Given the description of an element on the screen output the (x, y) to click on. 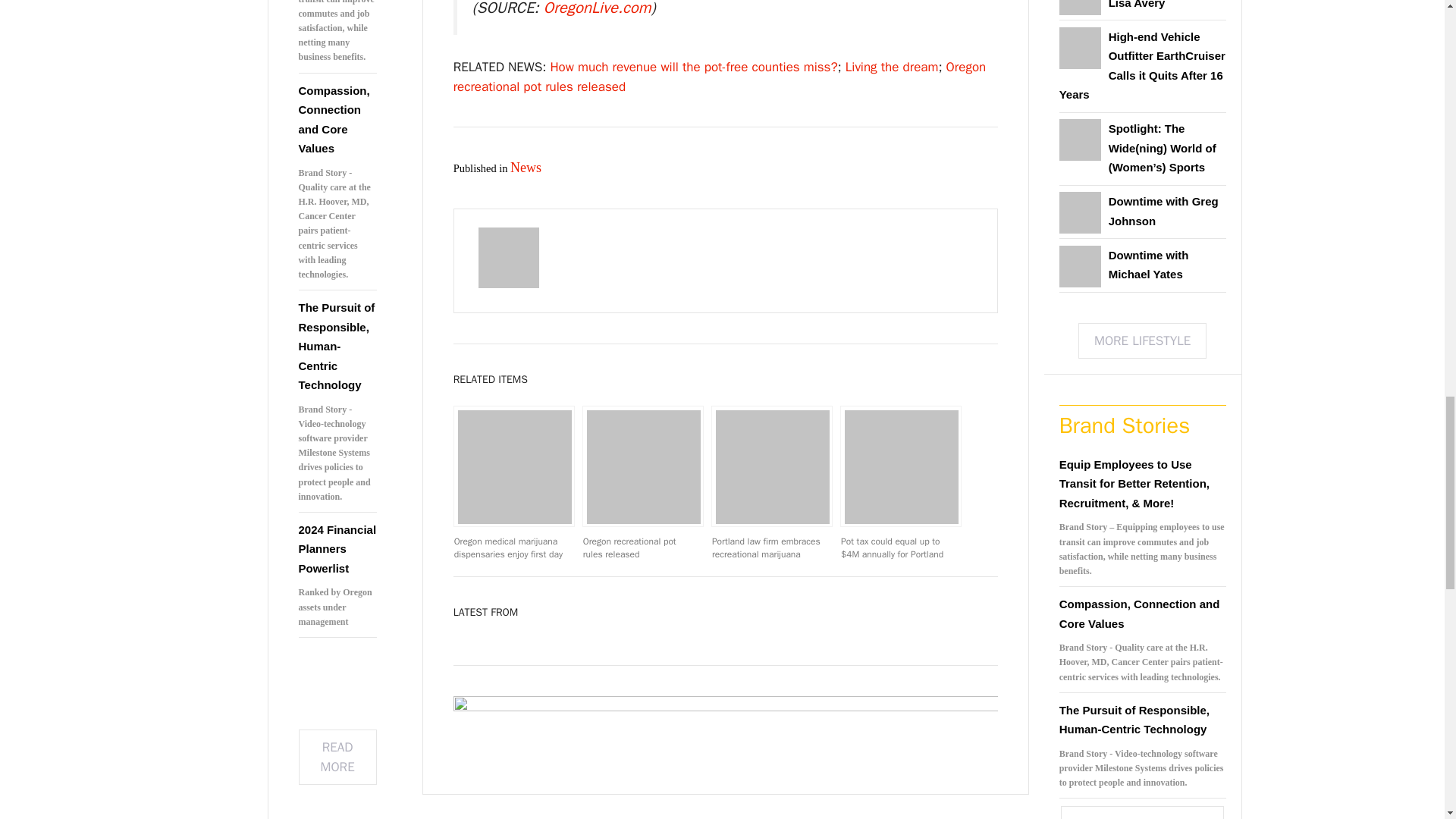
Oregon recreational pot rules released (642, 466)
Portland law firm embraces recreational marijuana industry (771, 466)
